Given the description of an element on the screen output the (x, y) to click on. 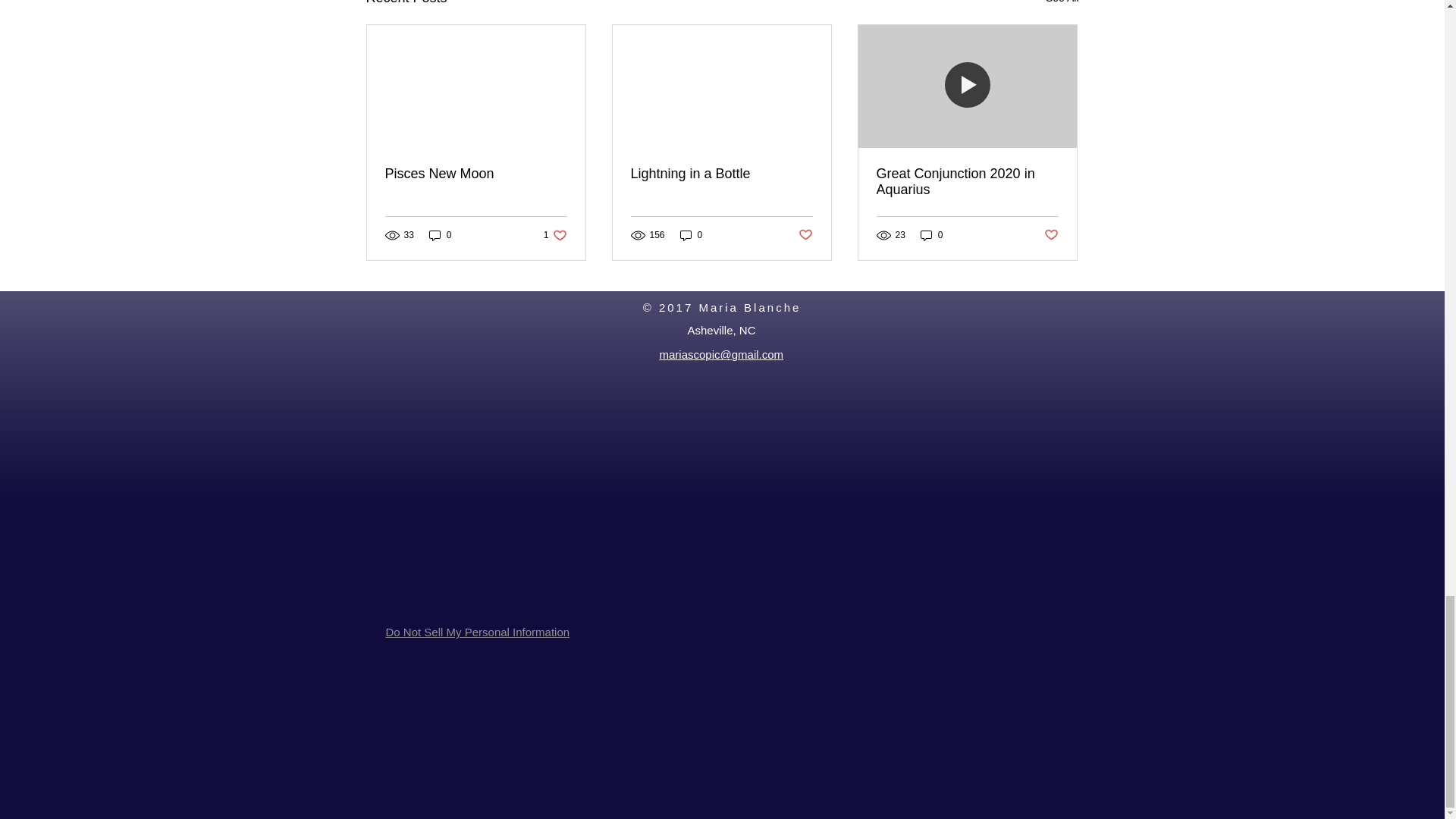
Pisces New Moon (476, 173)
See All (1061, 4)
0 (440, 235)
